Given the description of an element on the screen output the (x, y) to click on. 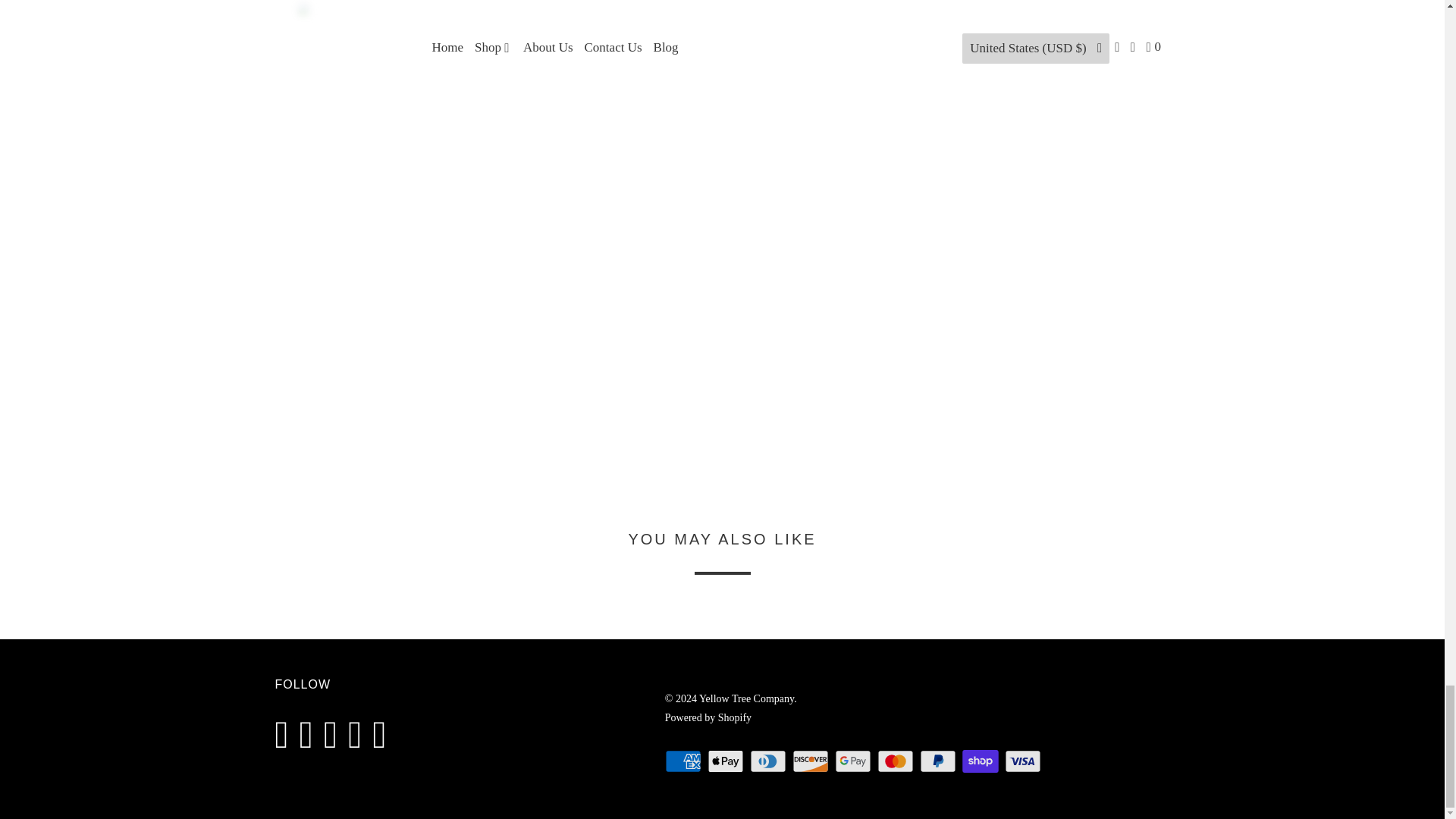
Apple Pay (726, 761)
Visa (1023, 761)
PayPal (939, 761)
Mastercard (897, 761)
Shop Pay (981, 761)
Google Pay (854, 761)
Discover (811, 761)
Diners Club (769, 761)
American Express (684, 761)
